Given the description of an element on the screen output the (x, y) to click on. 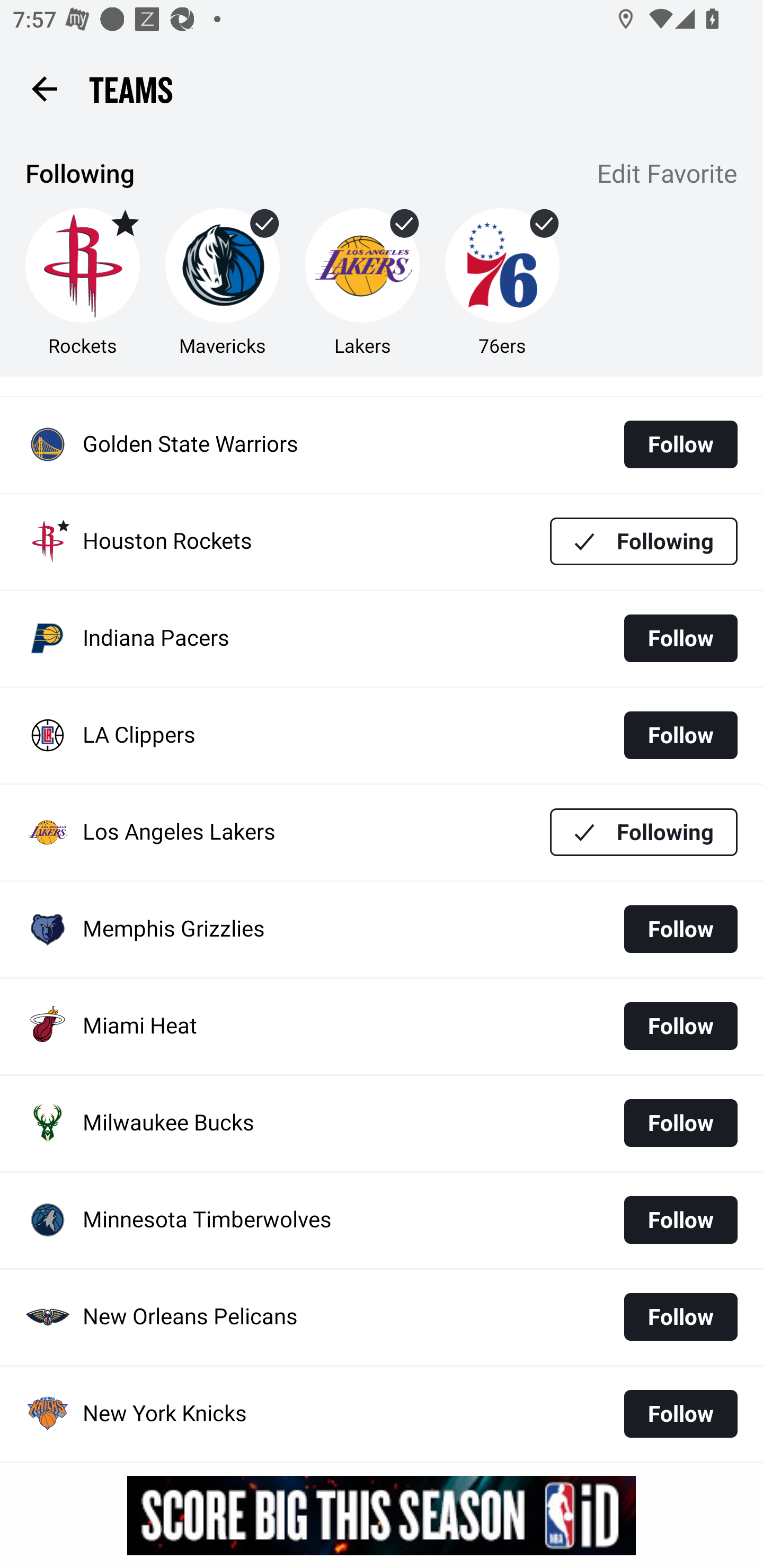
Back button (44, 88)
Edit Favorite (667, 175)
Golden State Warriors Follow (381, 444)
Follow (680, 444)
Houston Rockets Following (381, 541)
Following (643, 541)
Indiana Pacers Follow (381, 638)
Follow (680, 637)
LA Clippers Follow (381, 736)
Follow (680, 735)
Los Angeles Lakers Following (381, 832)
Following (643, 831)
Memphis Grizzlies Follow (381, 928)
Follow (680, 928)
Miami Heat Follow (381, 1026)
Follow (680, 1025)
Milwaukee Bucks Follow (381, 1123)
Follow (680, 1123)
Minnesota Timberwolves Follow (381, 1220)
Follow (680, 1219)
New Orleans Pelicans Follow (381, 1317)
Follow (680, 1316)
New York Knicks Follow (381, 1414)
Follow (680, 1413)
g5nqqygr7owph (381, 1515)
